Given the description of an element on the screen output the (x, y) to click on. 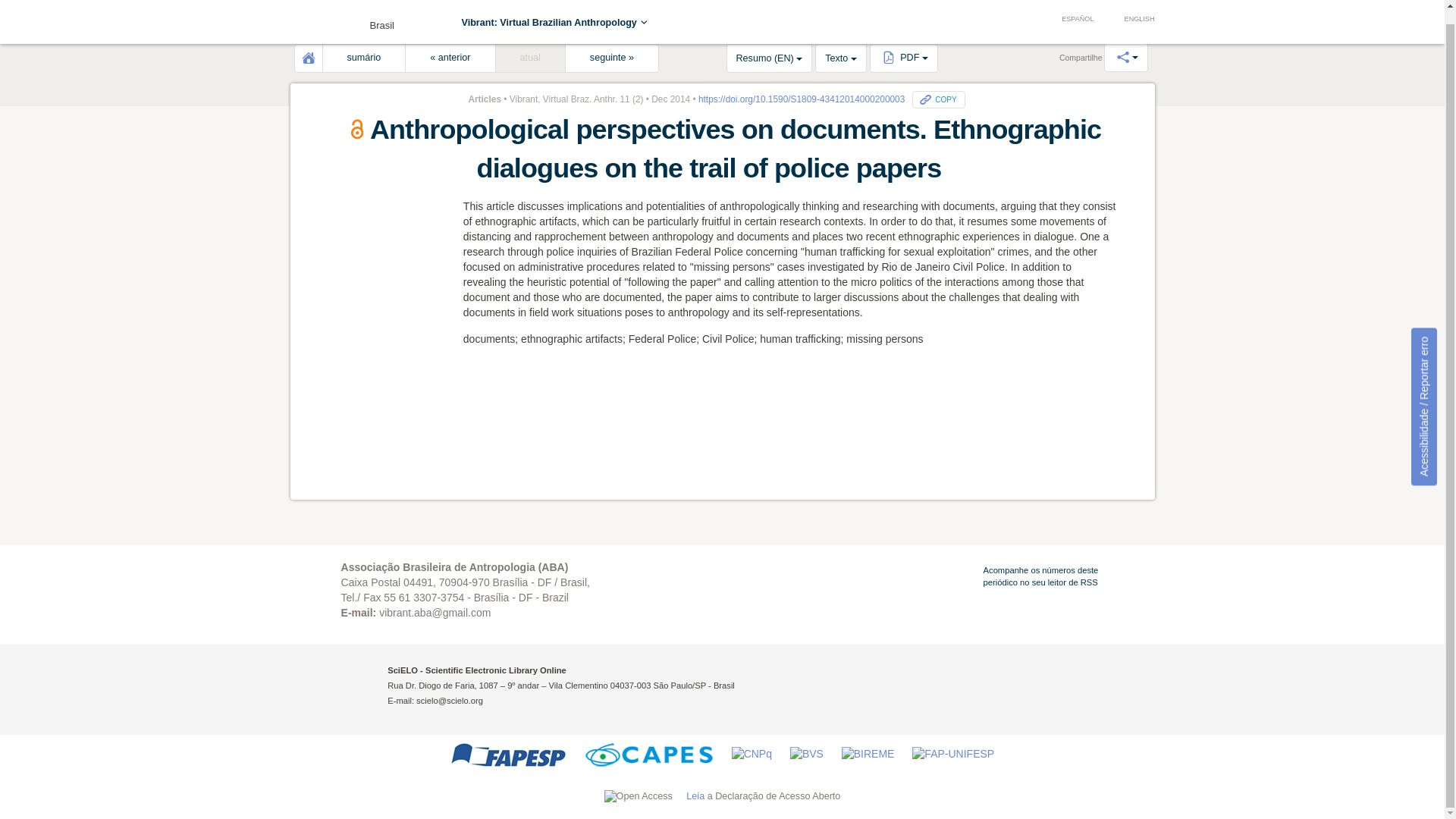
Brasil (346, 13)
ENGLISH (1131, 5)
Vibrant: Virtual Brazilian Anthropology (555, 9)
Abrir menu (312, 10)
Abrir menu (312, 10)
